Given the description of an element on the screen output the (x, y) to click on. 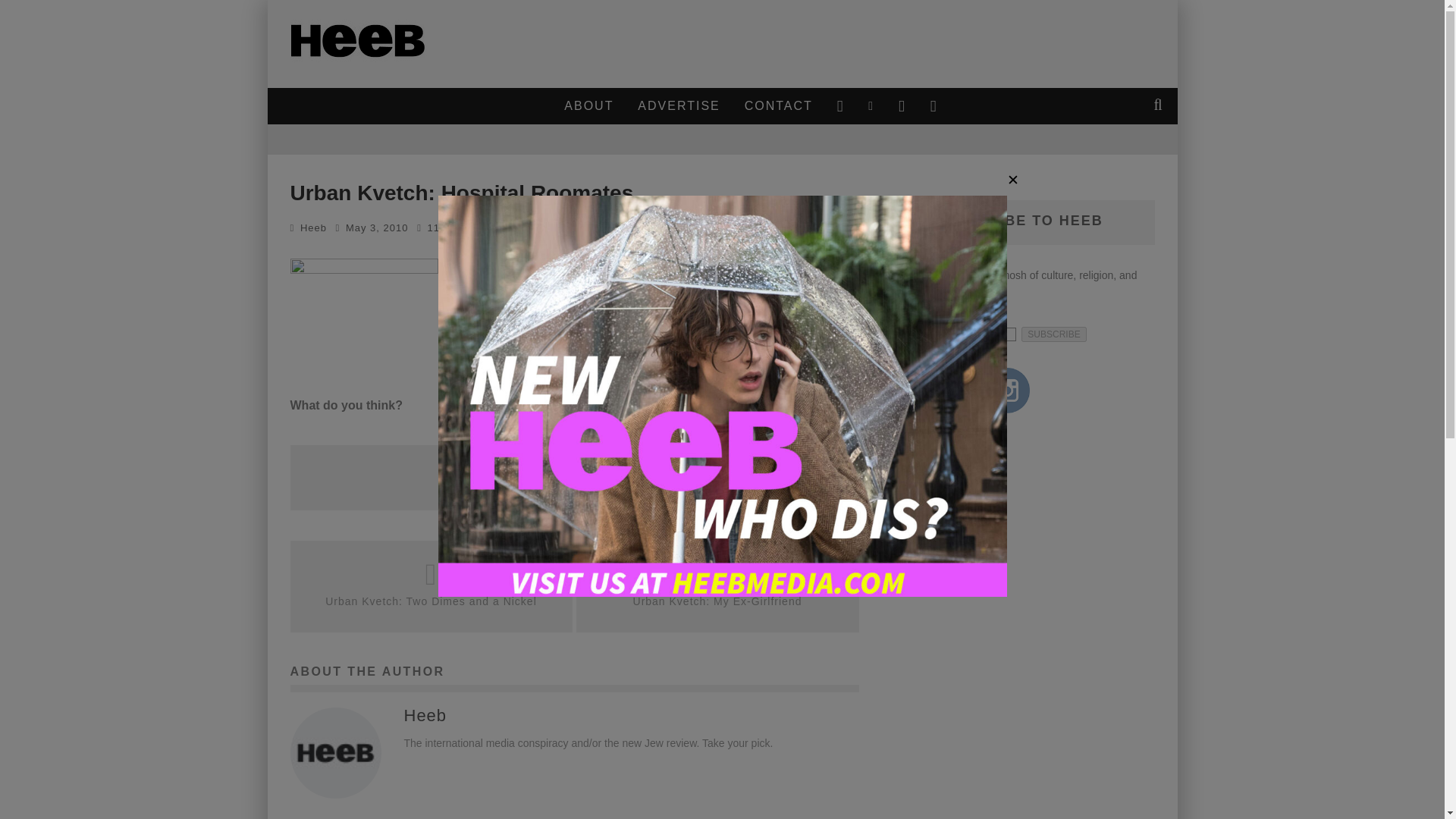
View all posts in Urban Kvetch (570, 227)
Urban Kvetch (570, 227)
SUBSCRIBE (1054, 334)
Facebook (908, 390)
Twitter (956, 390)
CONTACT (778, 105)
ABOUT (588, 105)
roomies (363, 308)
Urban Kvetch: My Ex-Girlfriend (717, 600)
ADVERTISE (678, 105)
